Given the description of an element on the screen output the (x, y) to click on. 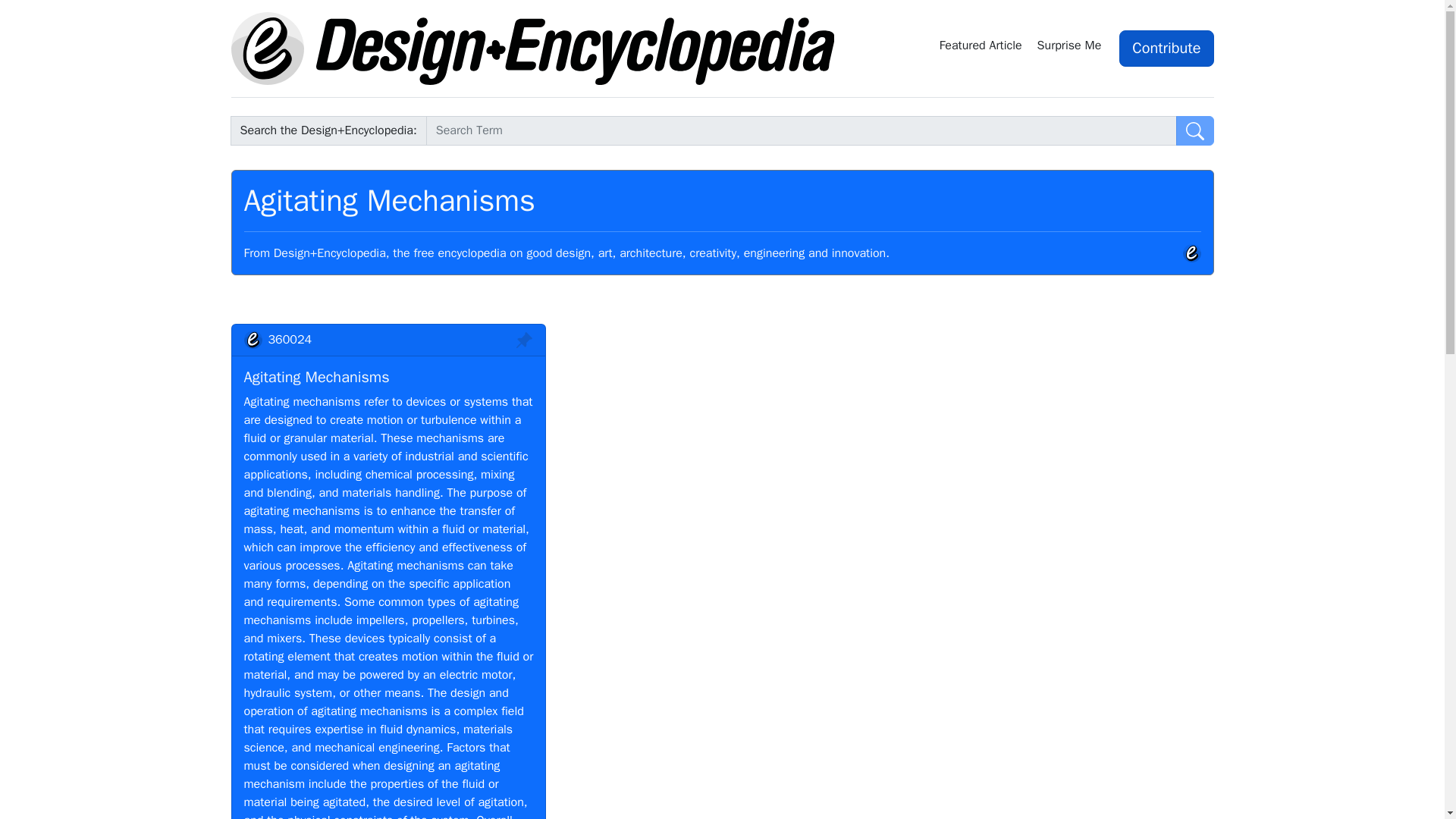
Featured Article (982, 48)
Surprise Me (1072, 48)
Agitating Mechanisms (317, 376)
Design Encyclopedia (532, 48)
Contribute (1165, 48)
